Given the description of an element on the screen output the (x, y) to click on. 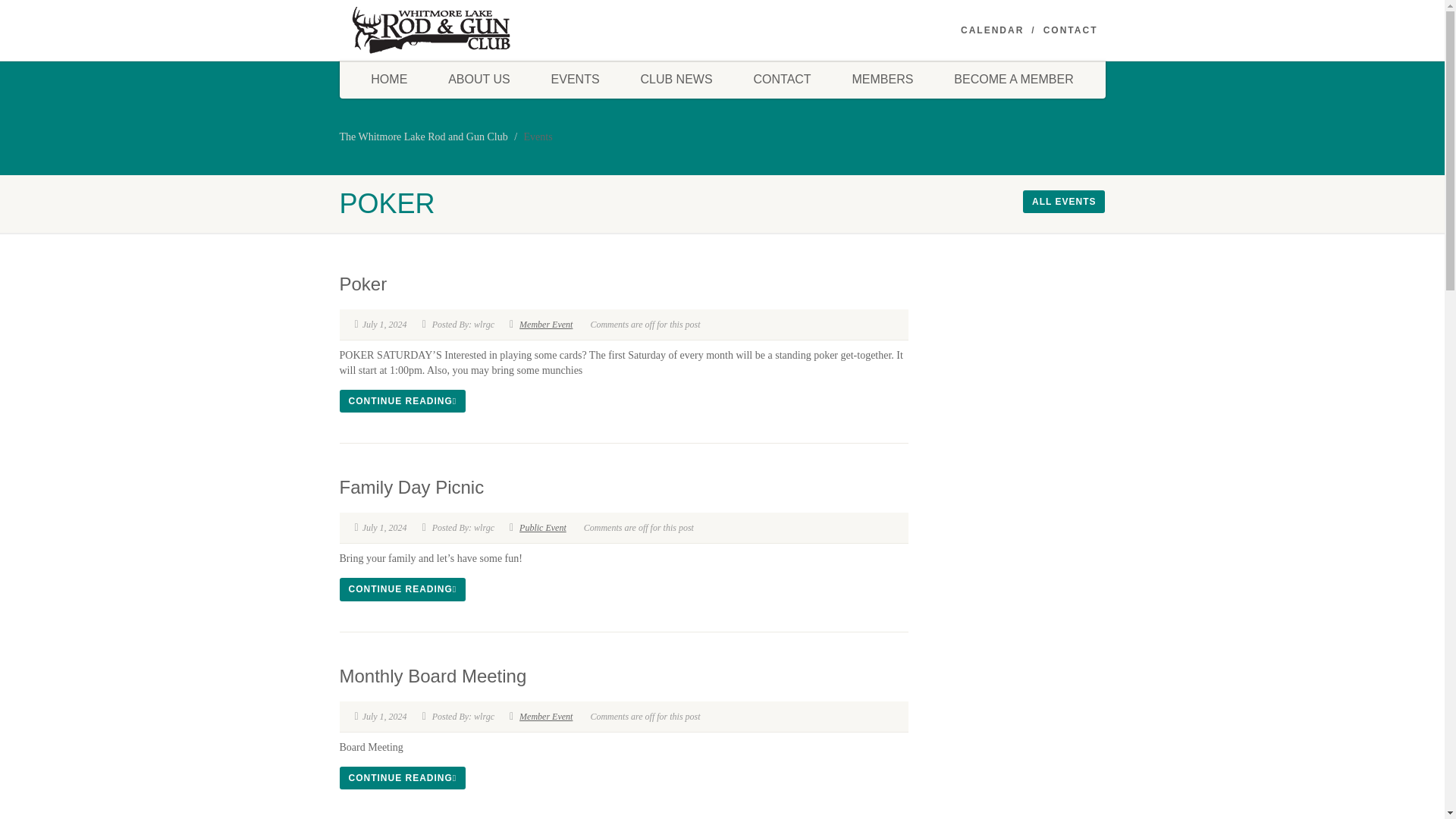
MEMBERS (882, 79)
BECOME A MEMBER (1013, 79)
CONTACT (1070, 29)
CONTINUE READING (402, 400)
CLUB NEWS (675, 79)
HOME (389, 79)
Go to The Whitmore Lake Rod and Gun Club. (423, 136)
CONTINUE READING (402, 777)
The Whitmore Lake Rod and Gun Club (423, 136)
Poker (363, 283)
CALENDAR (991, 29)
Family Day Picnic (411, 486)
Public Event (542, 527)
Member Event (545, 716)
ALL EVENTS (1064, 201)
